Given the description of an element on the screen output the (x, y) to click on. 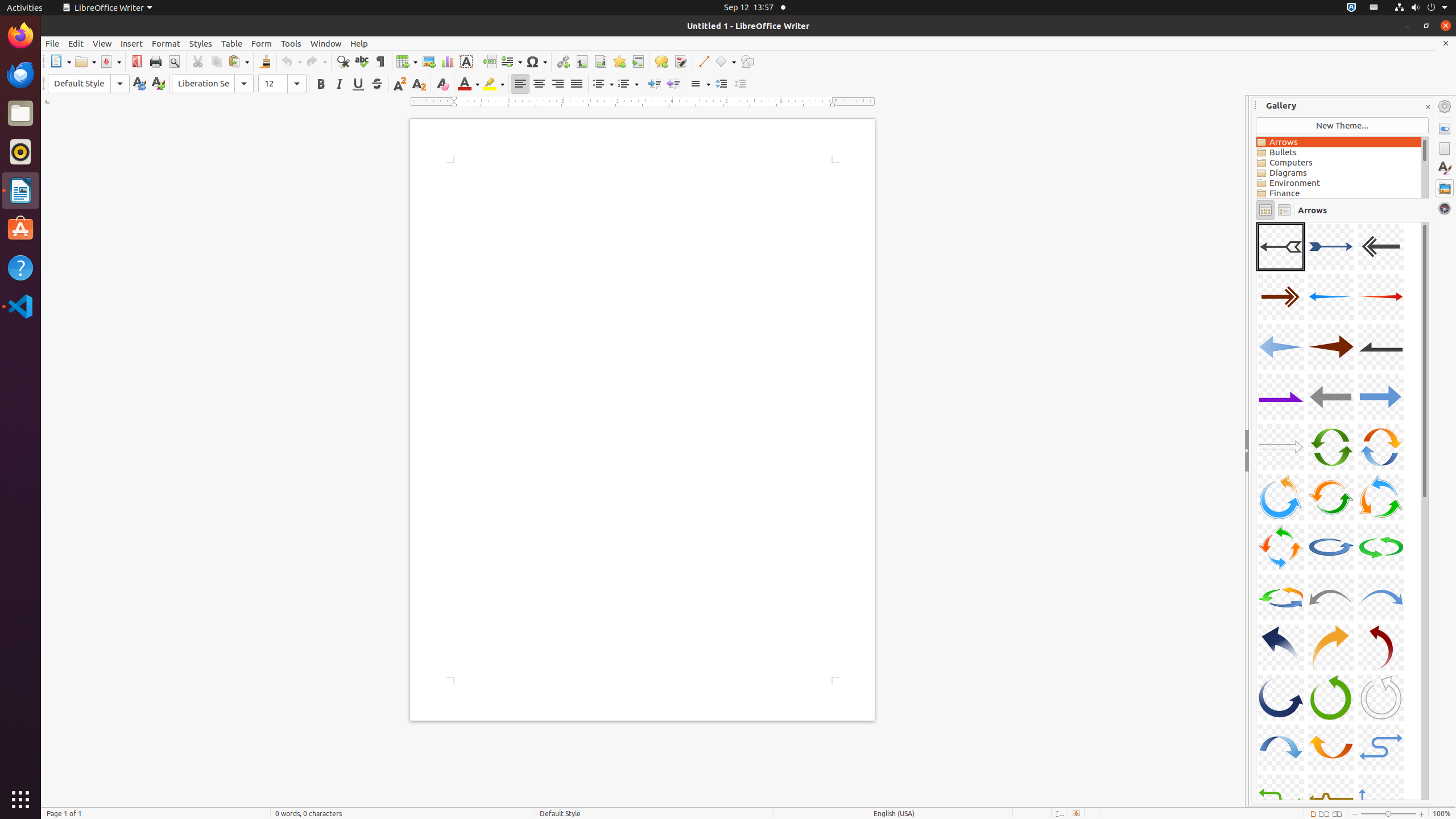
Decrease Element type: push-button (739, 83)
Update Element type: push-button (138, 83)
Bullets Element type: list-item (1338, 152)
Increase Element type: push-button (721, 83)
A36-CurvedArrow-LightBlue-Up Element type: list-item (1256, 222)
